Given the description of an element on the screen output the (x, y) to click on. 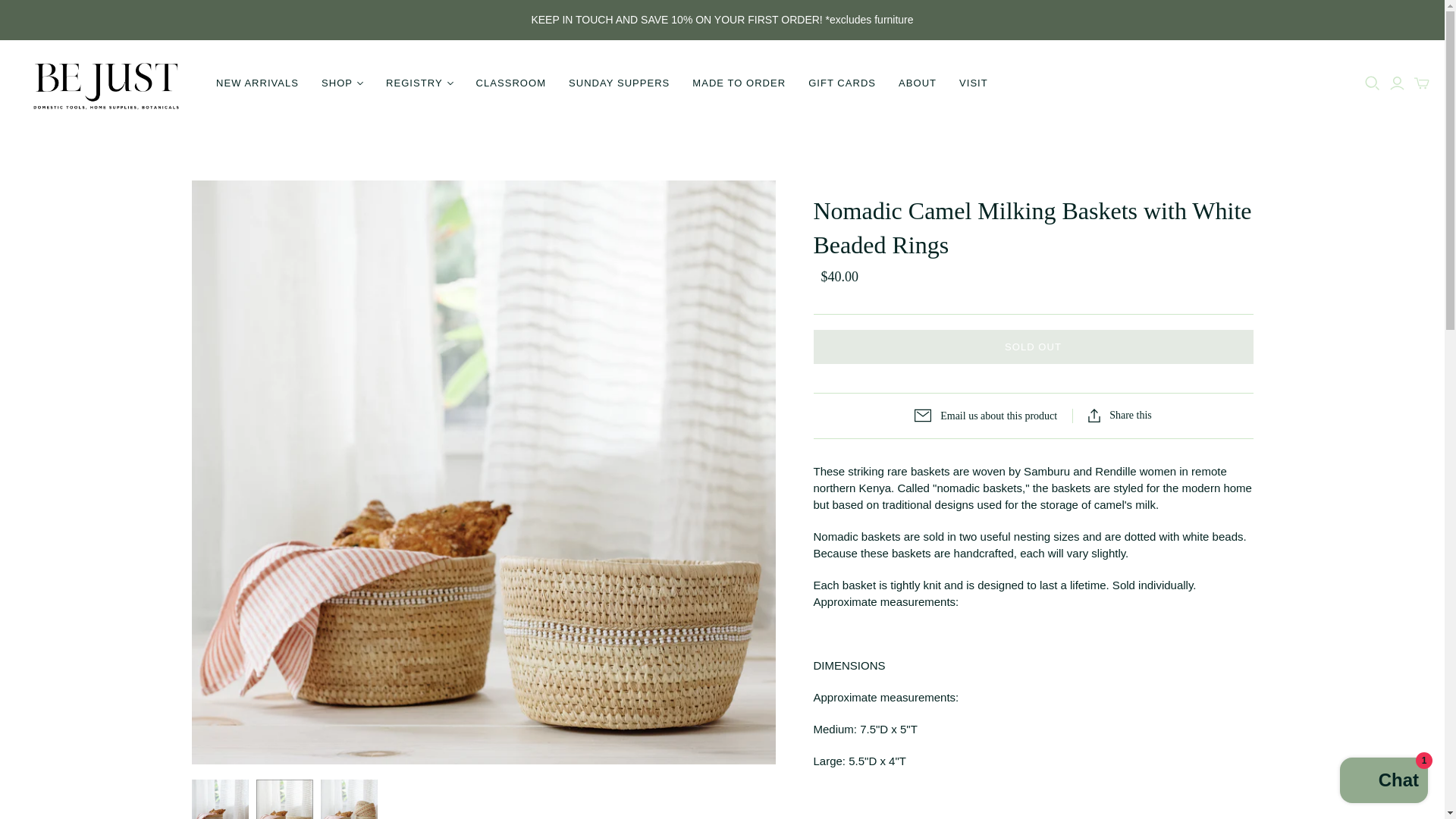
Shopify online store chat (1383, 781)
NEW ARRIVALS (257, 83)
MADE TO ORDER (738, 83)
SUNDAY SUPPERS (619, 83)
CLASSROOM (510, 83)
SHOP (342, 83)
GIFT CARDS (841, 83)
VISIT (972, 83)
REGISTRY (419, 83)
ABOUT (916, 83)
